Given the description of an element on the screen output the (x, y) to click on. 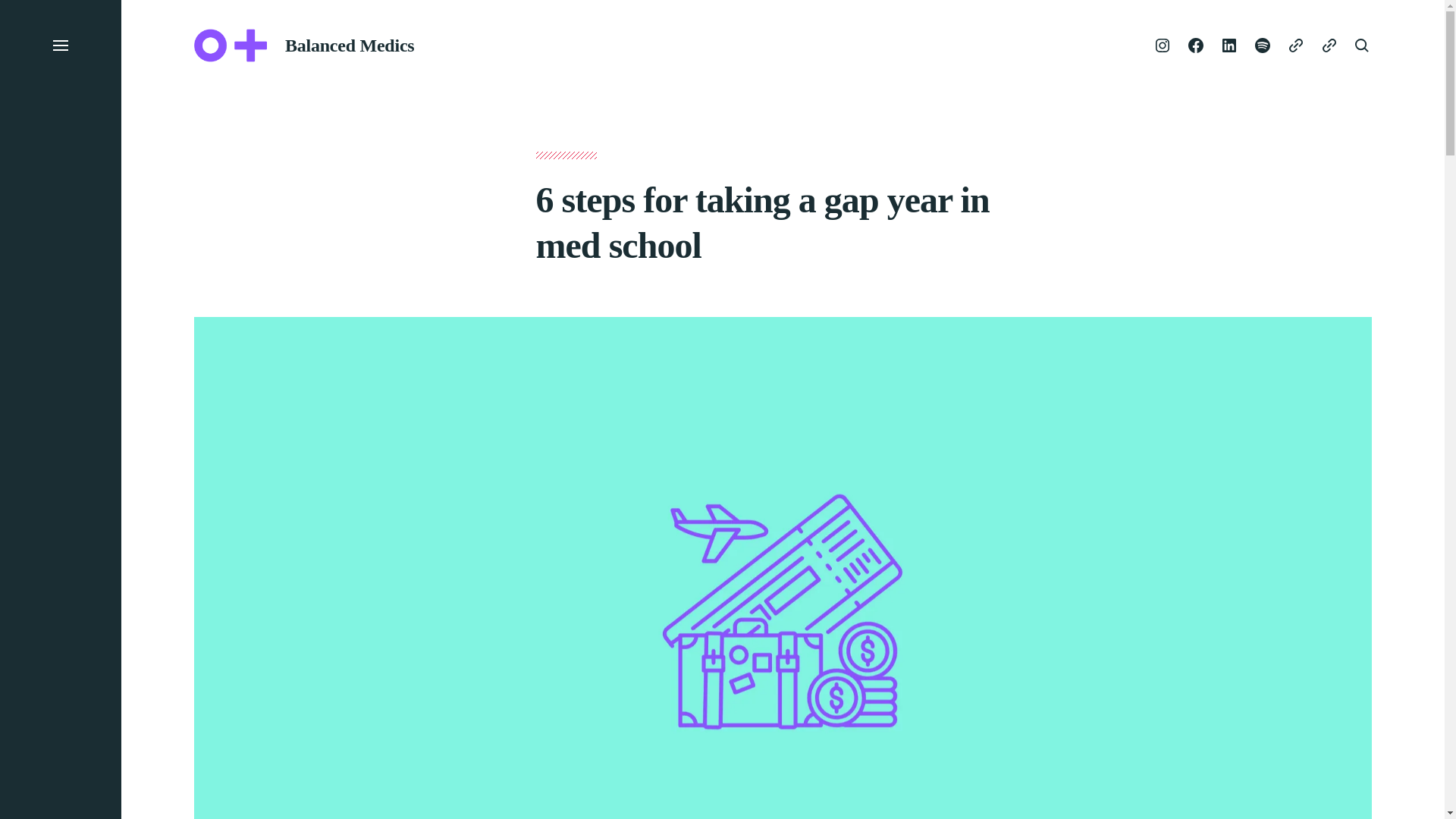
Balanced Medics (349, 45)
